Given the description of an element on the screen output the (x, y) to click on. 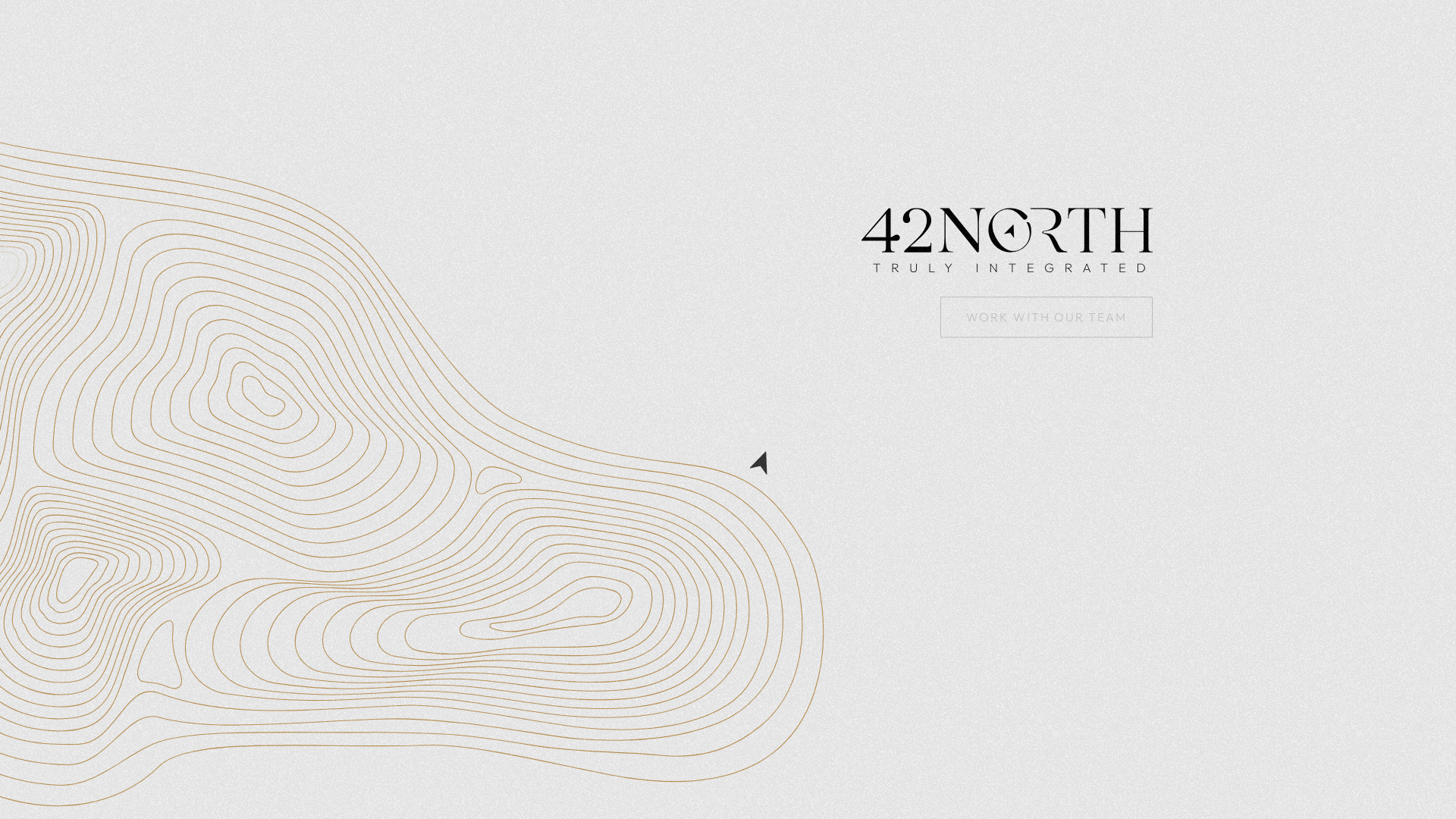
WORK WITH OUR TEAM Element type: text (1046, 317)
42 North Truly Integrated Element type: hover (1006, 240)
